Given the description of an element on the screen output the (x, y) to click on. 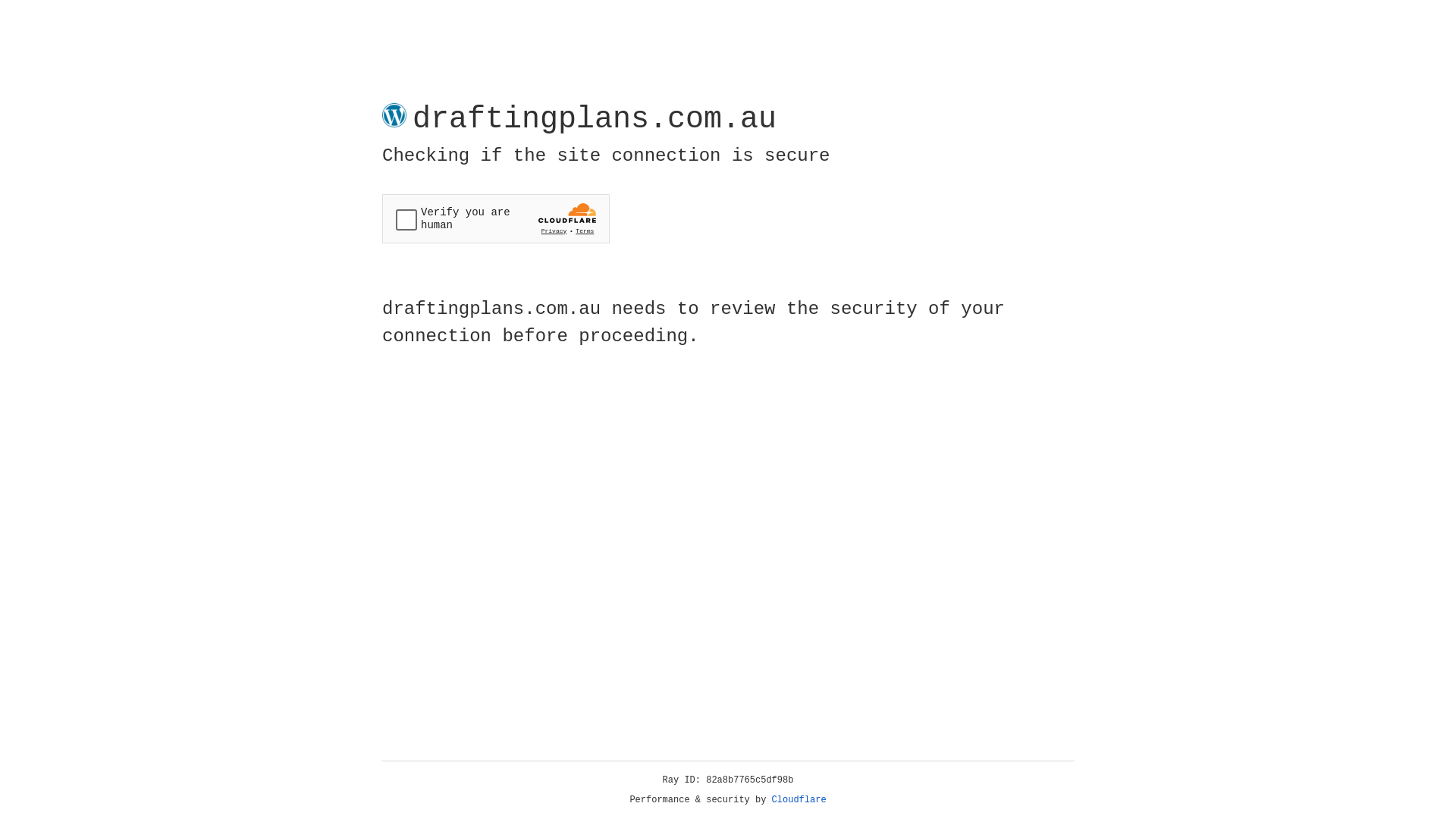
Cloudflare Element type: text (798, 799)
Widget containing a Cloudflare security challenge Element type: hover (495, 218)
